Given the description of an element on the screen output the (x, y) to click on. 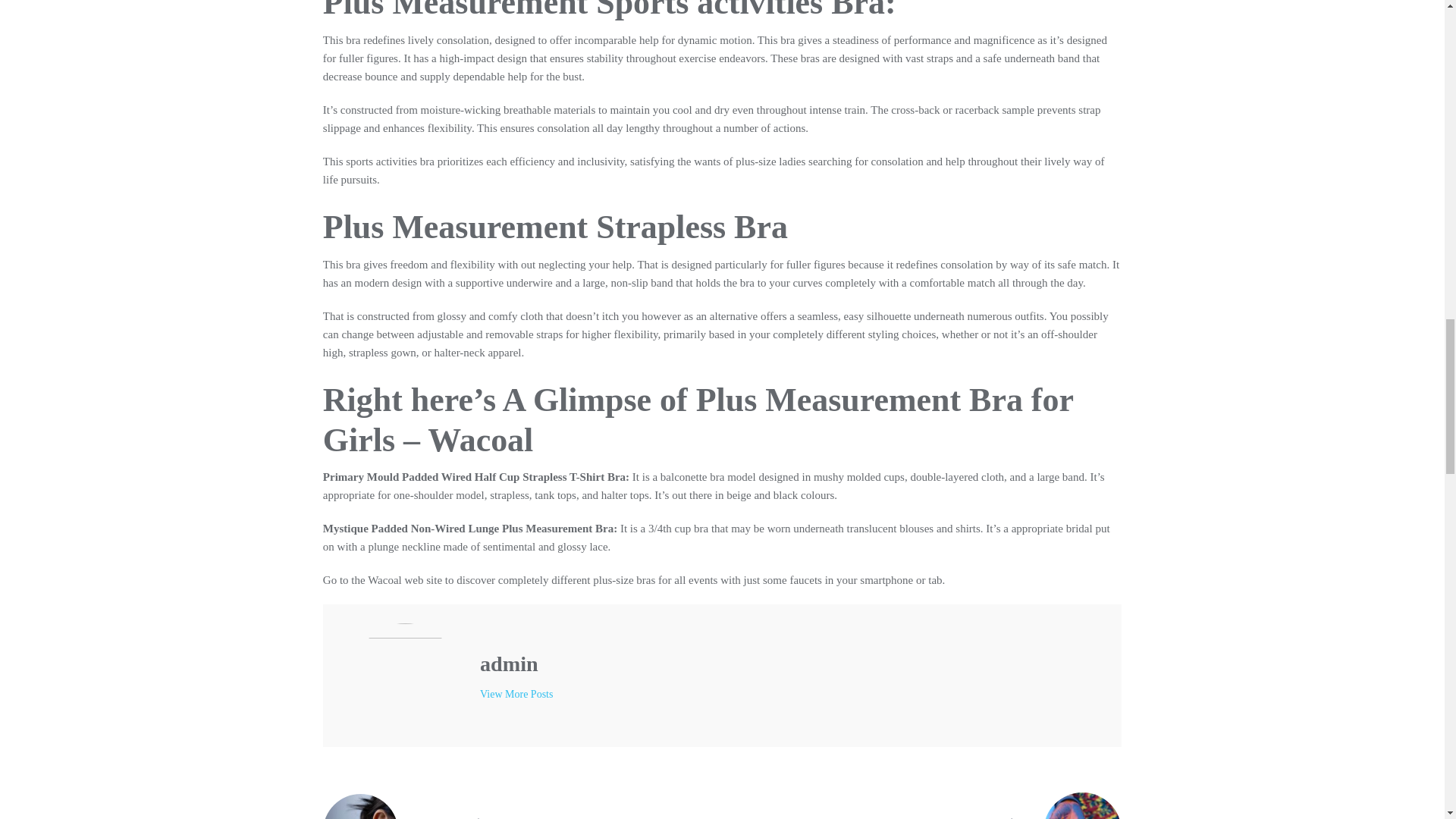
View More Posts (511, 806)
